Given the description of an element on the screen output the (x, y) to click on. 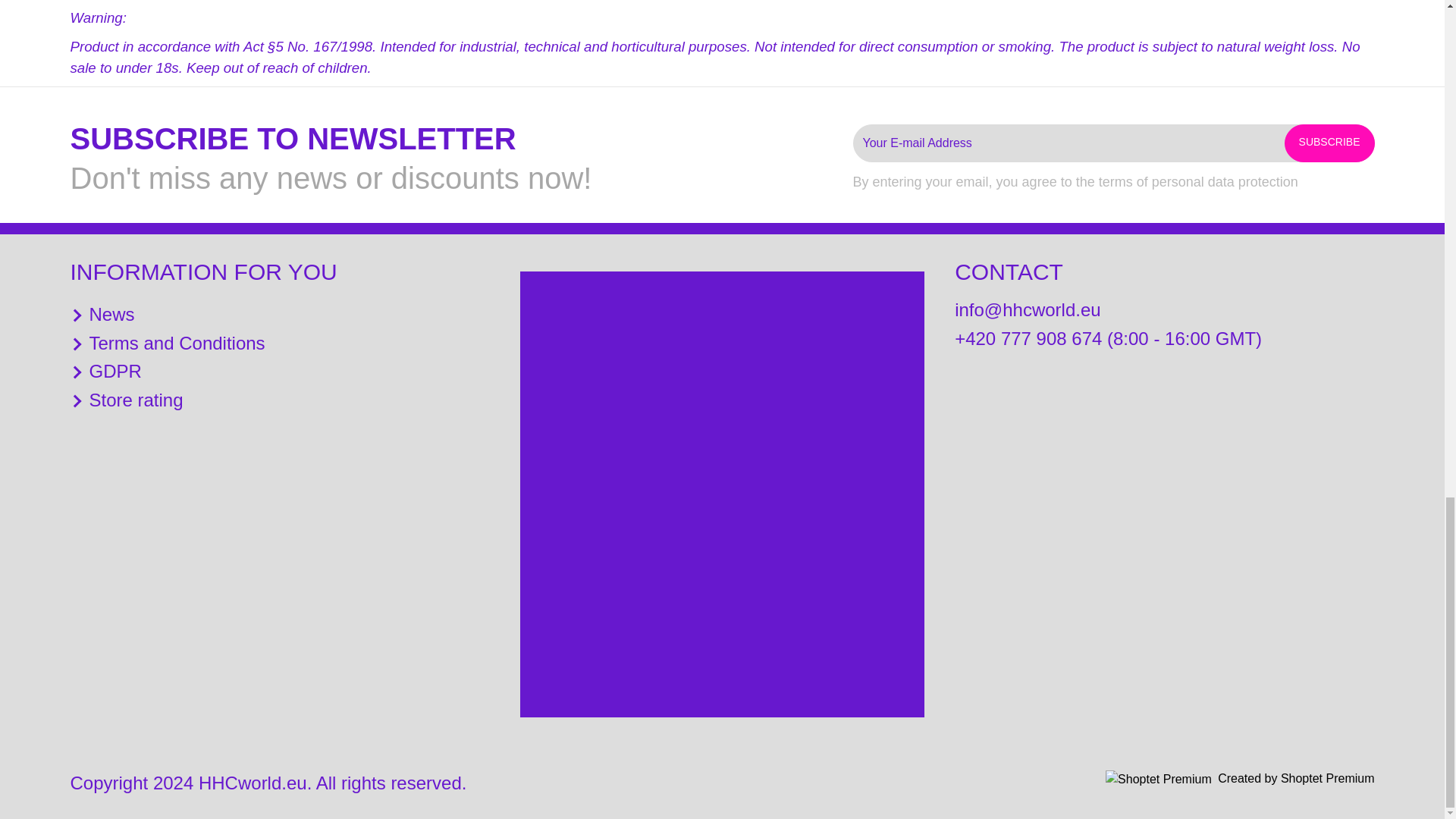
Phone (1108, 338)
